Given the description of an element on the screen output the (x, y) to click on. 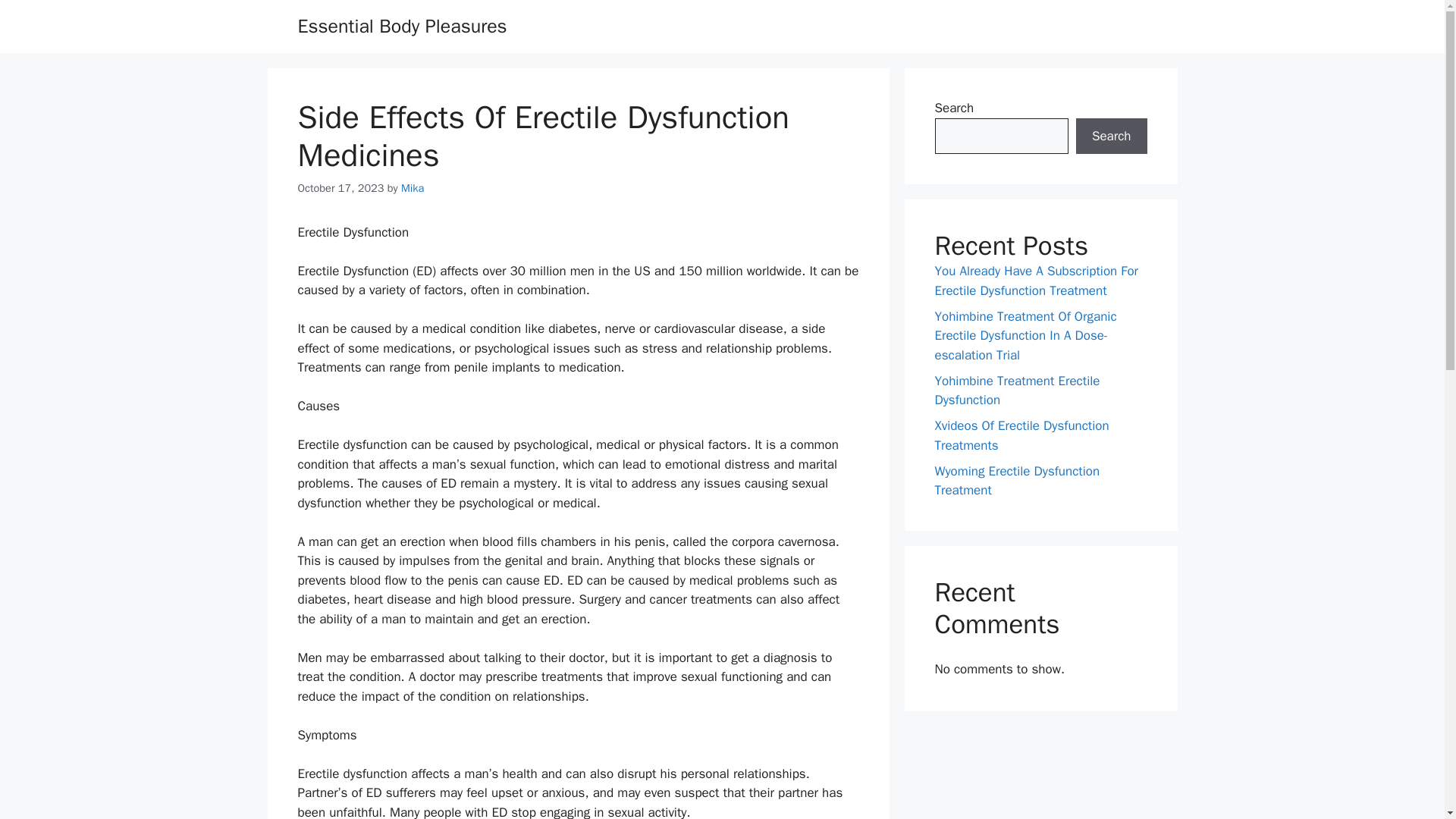
View all posts by Mika (412, 187)
Mika (412, 187)
Search (1111, 135)
Wyoming Erectile Dysfunction Treatment (1016, 479)
Yohimbine Treatment Erectile Dysfunction (1016, 390)
Xvideos Of Erectile Dysfunction Treatments (1021, 435)
Essential Body Pleasures (401, 25)
